Given the description of an element on the screen output the (x, y) to click on. 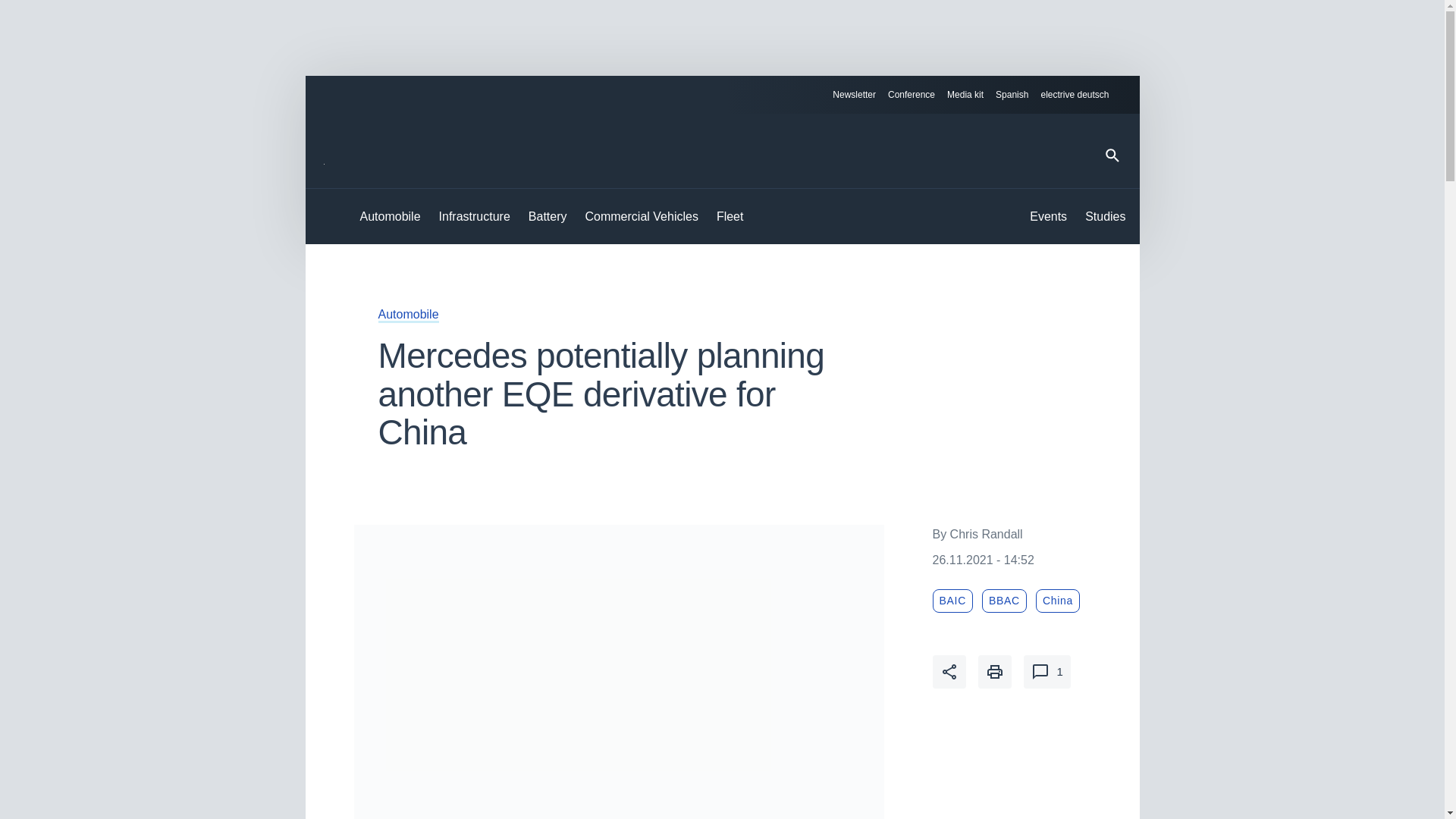
Battery (547, 217)
China (1057, 600)
Spanish (1011, 95)
Studies (1104, 217)
Kommentare (1046, 671)
Newsletter (854, 95)
Drucken (994, 671)
Commercial Vehicles (641, 217)
BAIC (952, 600)
Events (1048, 217)
